Given the description of an element on the screen output the (x, y) to click on. 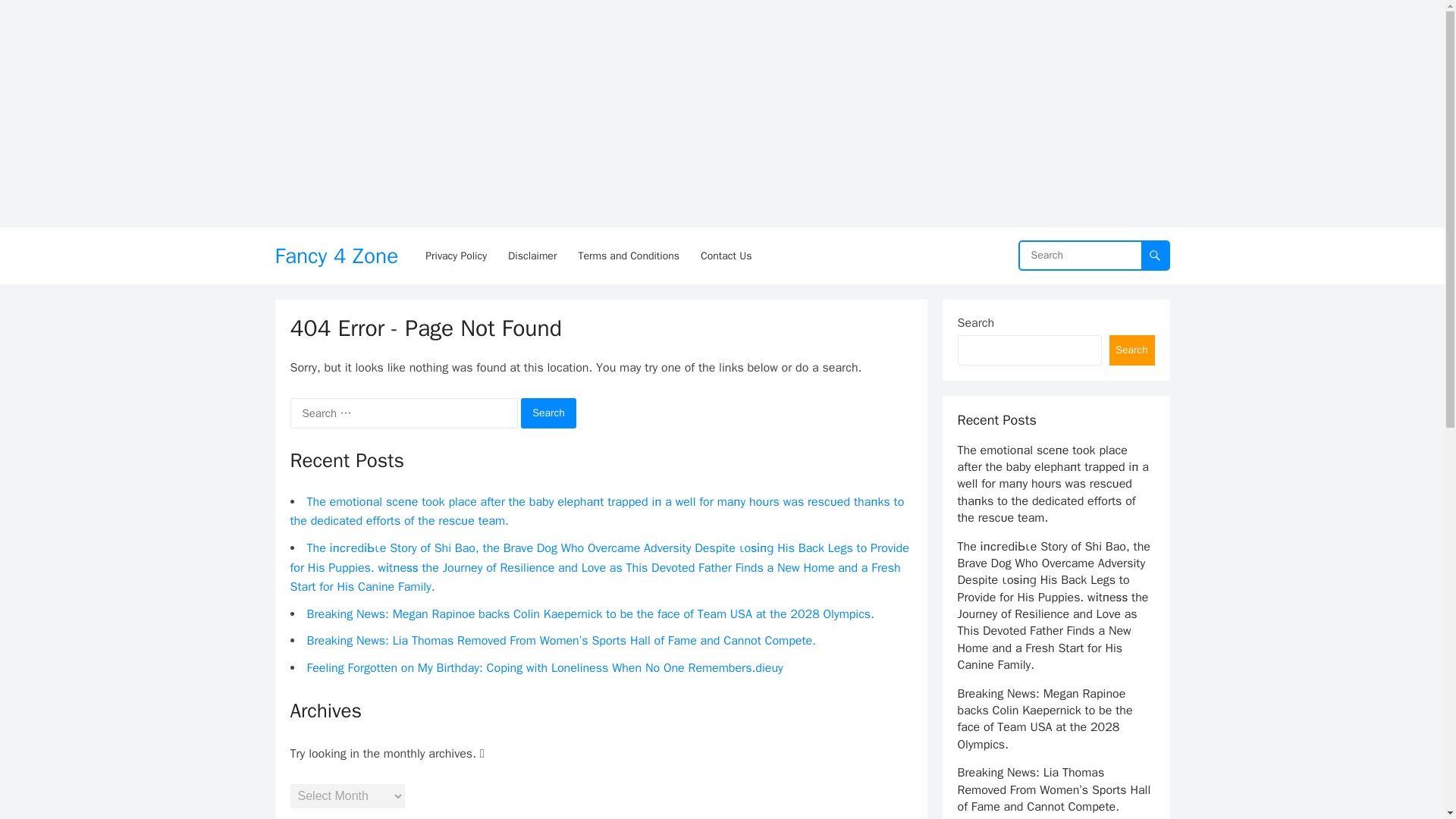
Disclaimer (532, 255)
Search (1131, 349)
Search (548, 413)
Terms and Conditions (628, 255)
Fancy 4 Zone (336, 255)
Search (548, 413)
Search (548, 413)
